Given the description of an element on the screen output the (x, y) to click on. 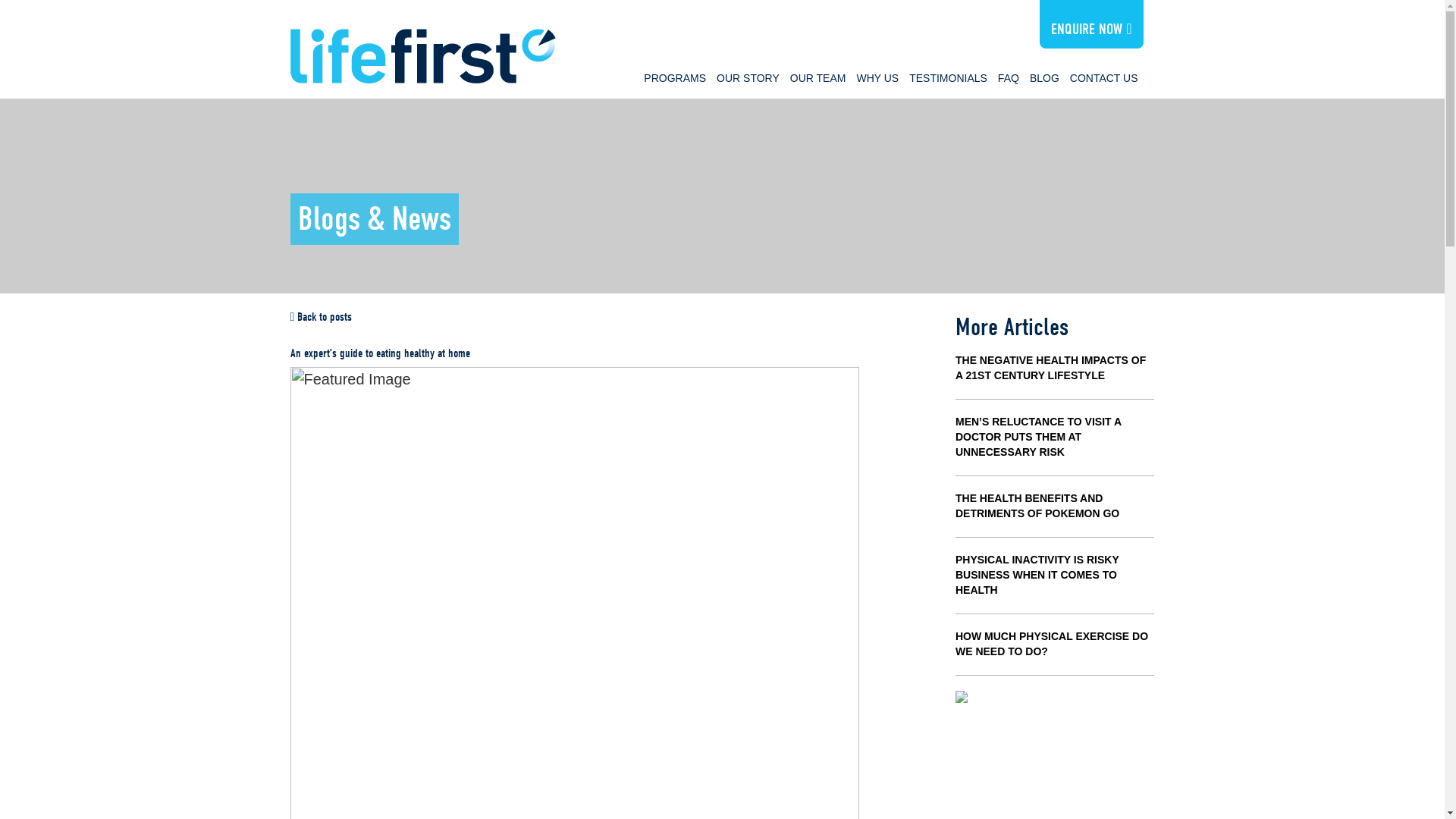
OUR TEAM (817, 77)
FAQ (1008, 77)
WHY US (877, 77)
The health benefits and detriments of Pokemon Go (1037, 505)
OUR STORY (747, 77)
THE NEGATIVE HEALTH IMPACTS OF A 21ST CENTURY LIFESTYLE (1050, 367)
CONTACT US (1103, 77)
ENQUIRE NOW (1091, 28)
The Negative Health Impacts of a 21st Century Lifestyle (1050, 367)
